Given the description of an element on the screen output the (x, y) to click on. 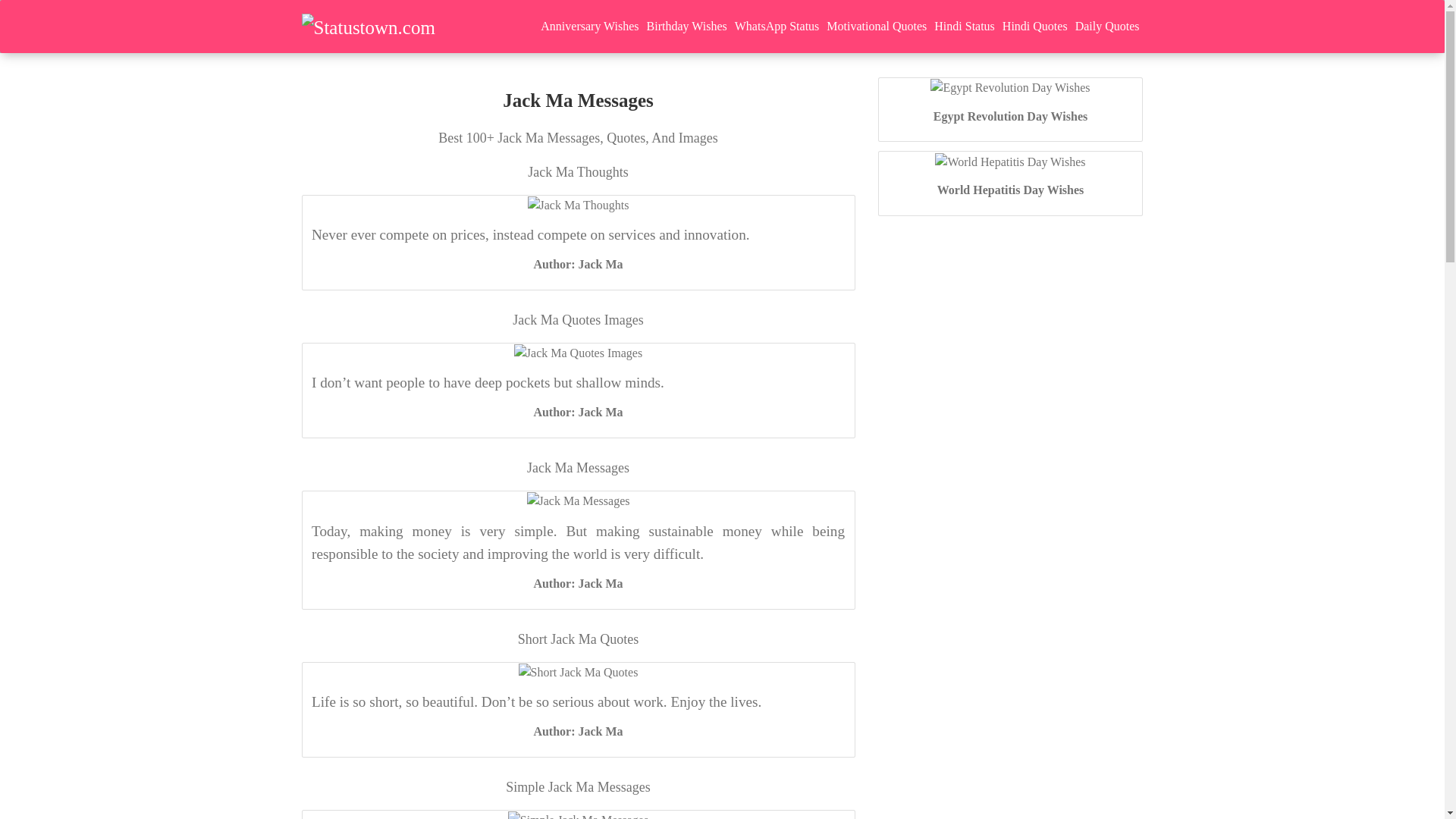
Egypt Revolution Day Wishes (1009, 86)
Birthday Wishes (686, 26)
Anniversary Wishes (589, 26)
World Hepatitis Day Wishes (1009, 160)
Hindi Status (964, 26)
Motivational Quotes (876, 26)
World Hepatitis Day Wishes (1010, 189)
World Hepatitis Day Wishes (1010, 189)
Daily Quotes (1106, 26)
